Given the description of an element on the screen output the (x, y) to click on. 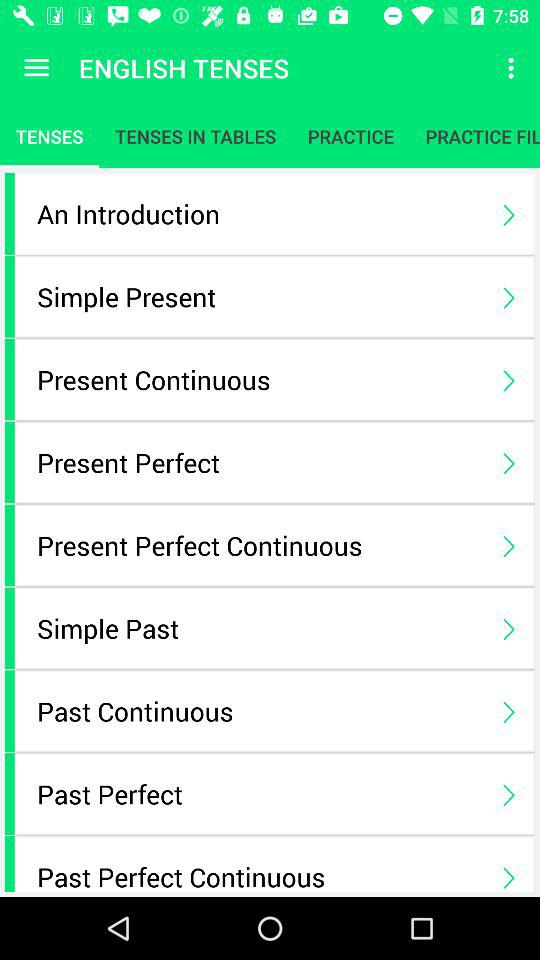
turn off the simple present icon (259, 296)
